Given the description of an element on the screen output the (x, y) to click on. 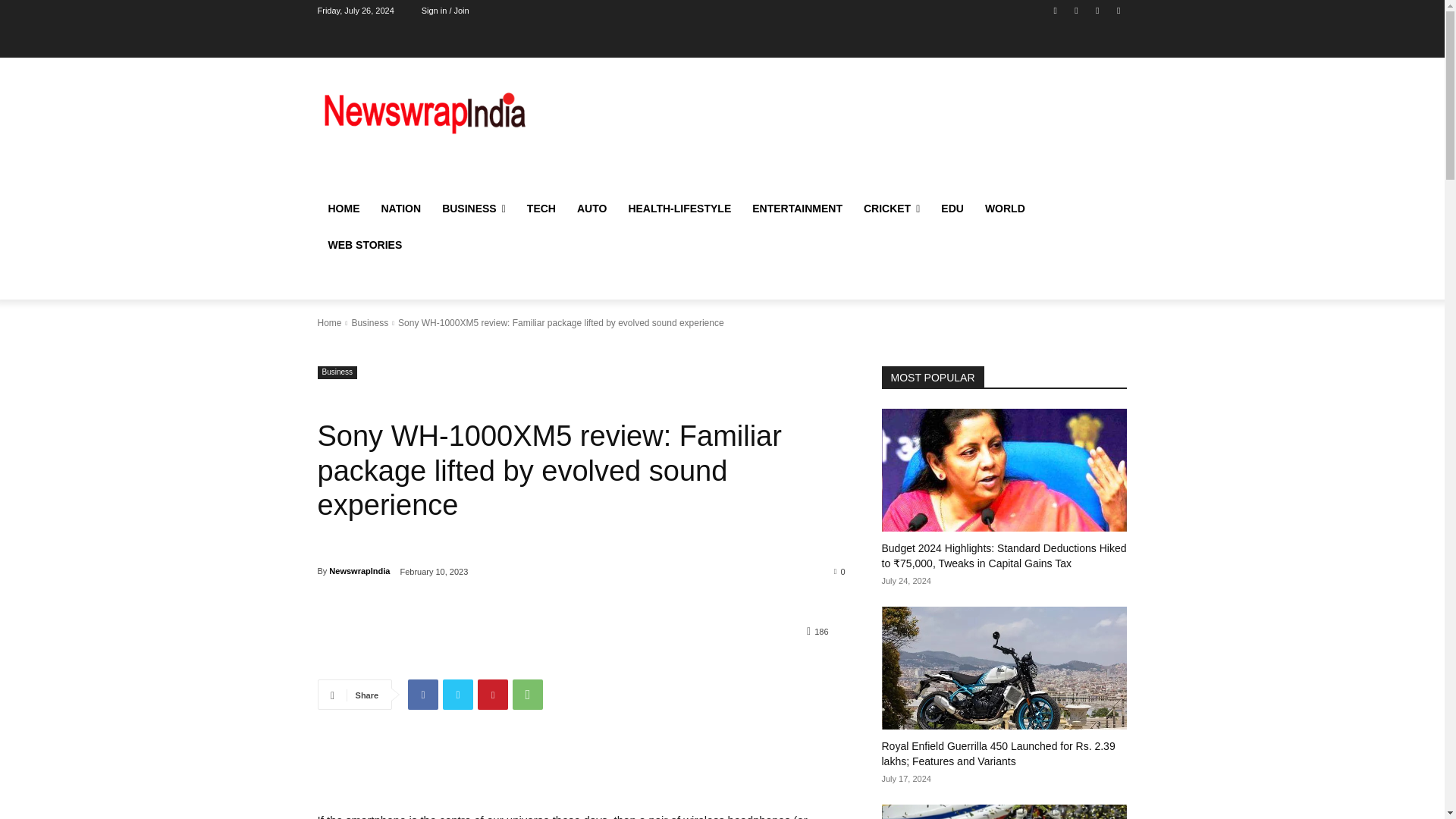
BUSINESS (473, 208)
ENTERTAINMENT (797, 208)
AUTO (591, 208)
Pinterest (492, 694)
Facebook (422, 694)
Google News (1117, 9)
TECH (541, 208)
Twitter (457, 694)
Youtube (1097, 9)
Twitter (1075, 9)
HEALTH-LIFESTYLE (679, 208)
WhatsApp (527, 694)
HOME (343, 208)
Advertisement (846, 128)
NATION (399, 208)
